Given the description of an element on the screen output the (x, y) to click on. 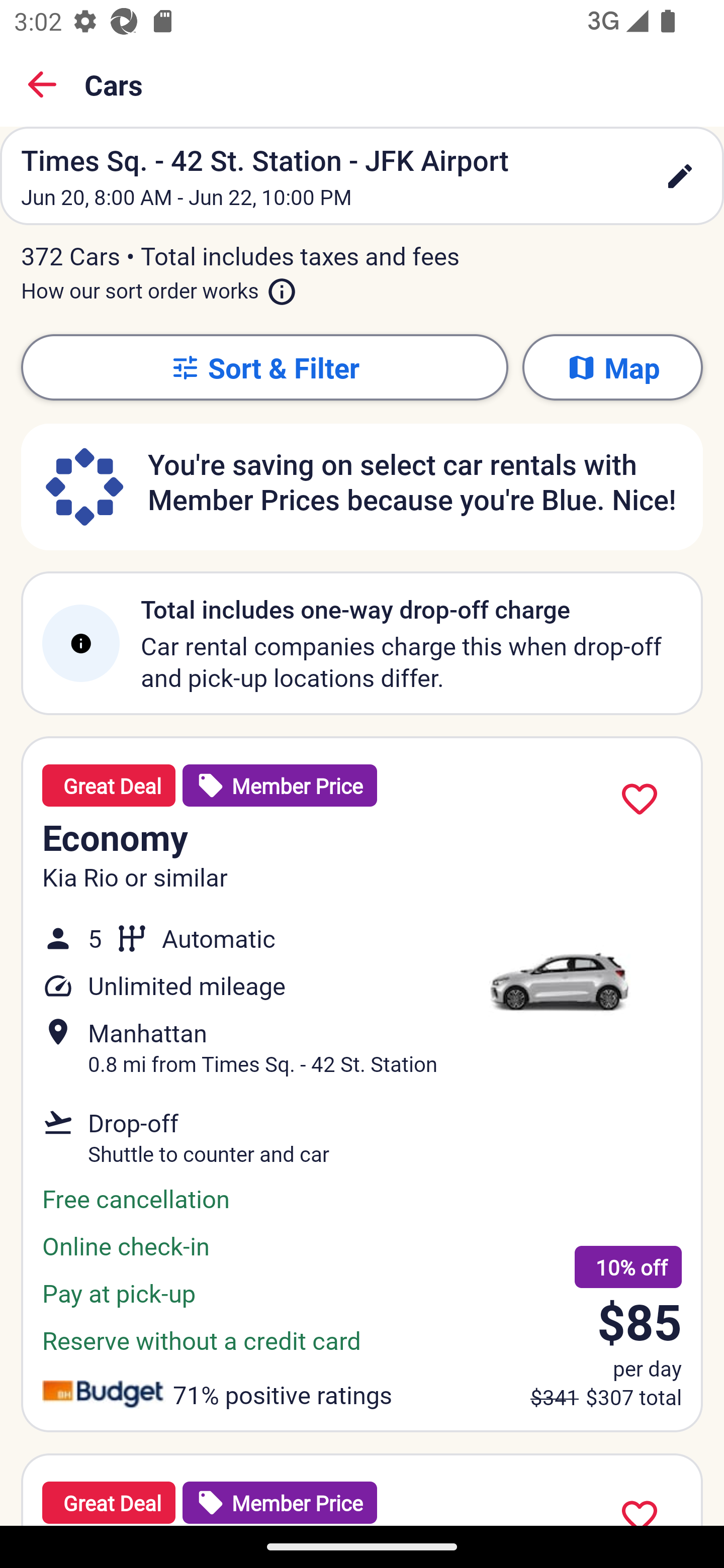
Back (42, 84)
edit (679, 175)
Sort & Filter (264, 366)
Map (612, 366)
